Given the description of an element on the screen output the (x, y) to click on. 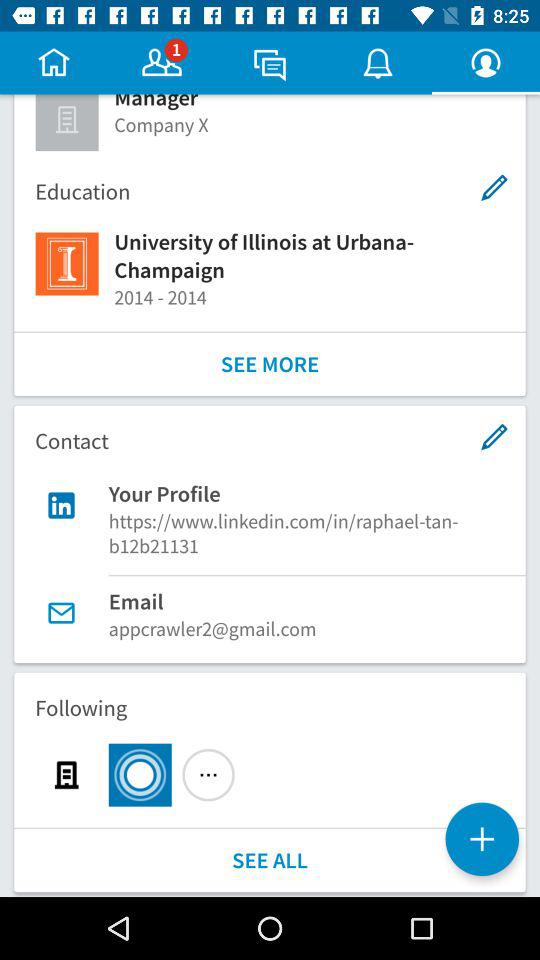
scroll to see more icon (269, 364)
